Given the description of an element on the screen output the (x, y) to click on. 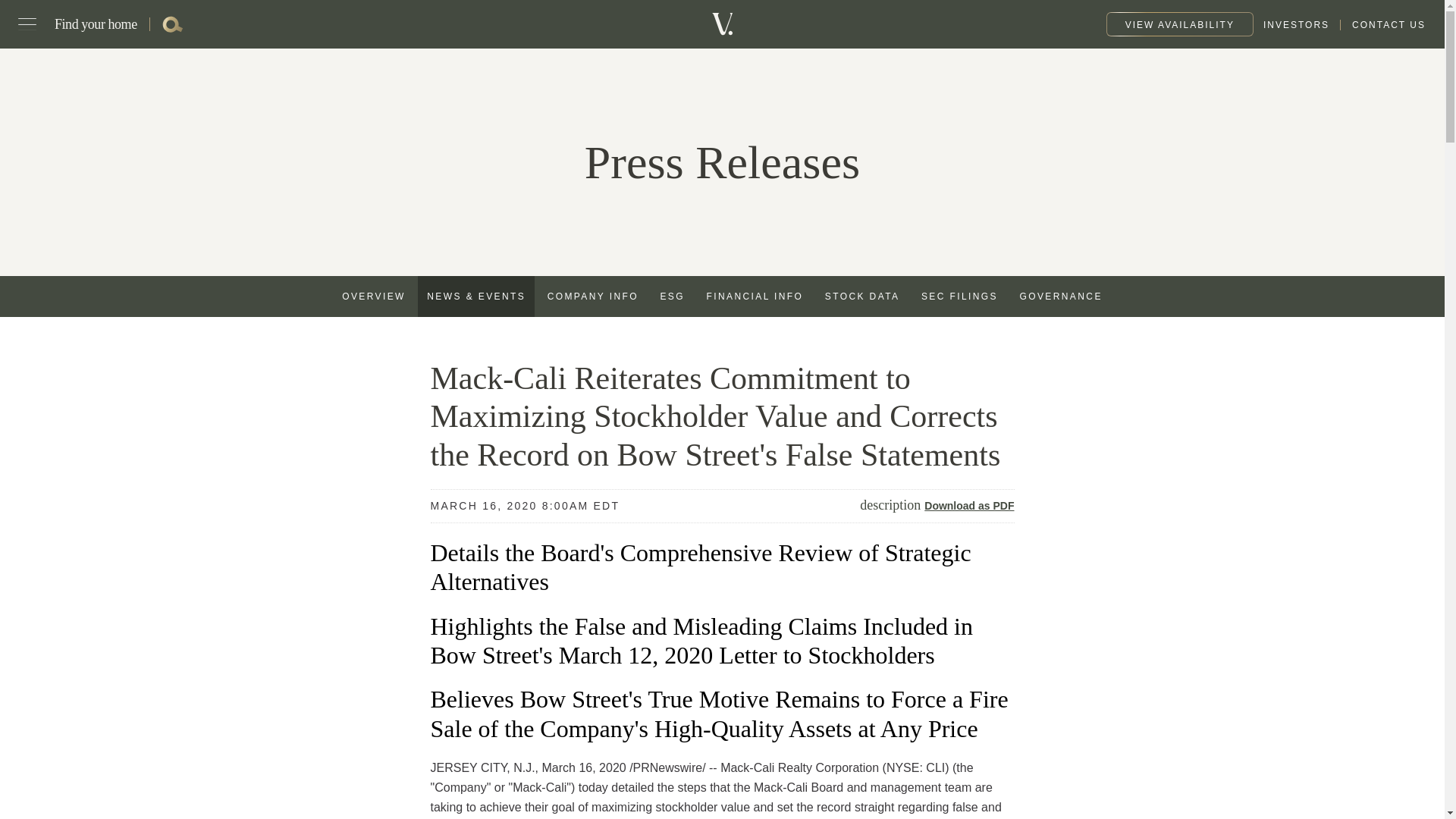
VIEW AVAILABILITY (1179, 24)
CONTACT US (1382, 24)
Opens in a new window (672, 296)
COMPANY INFO (592, 296)
OVERVIEW (373, 296)
Opens in a new window (1296, 24)
INVESTORS (1296, 24)
